Given the description of an element on the screen output the (x, y) to click on. 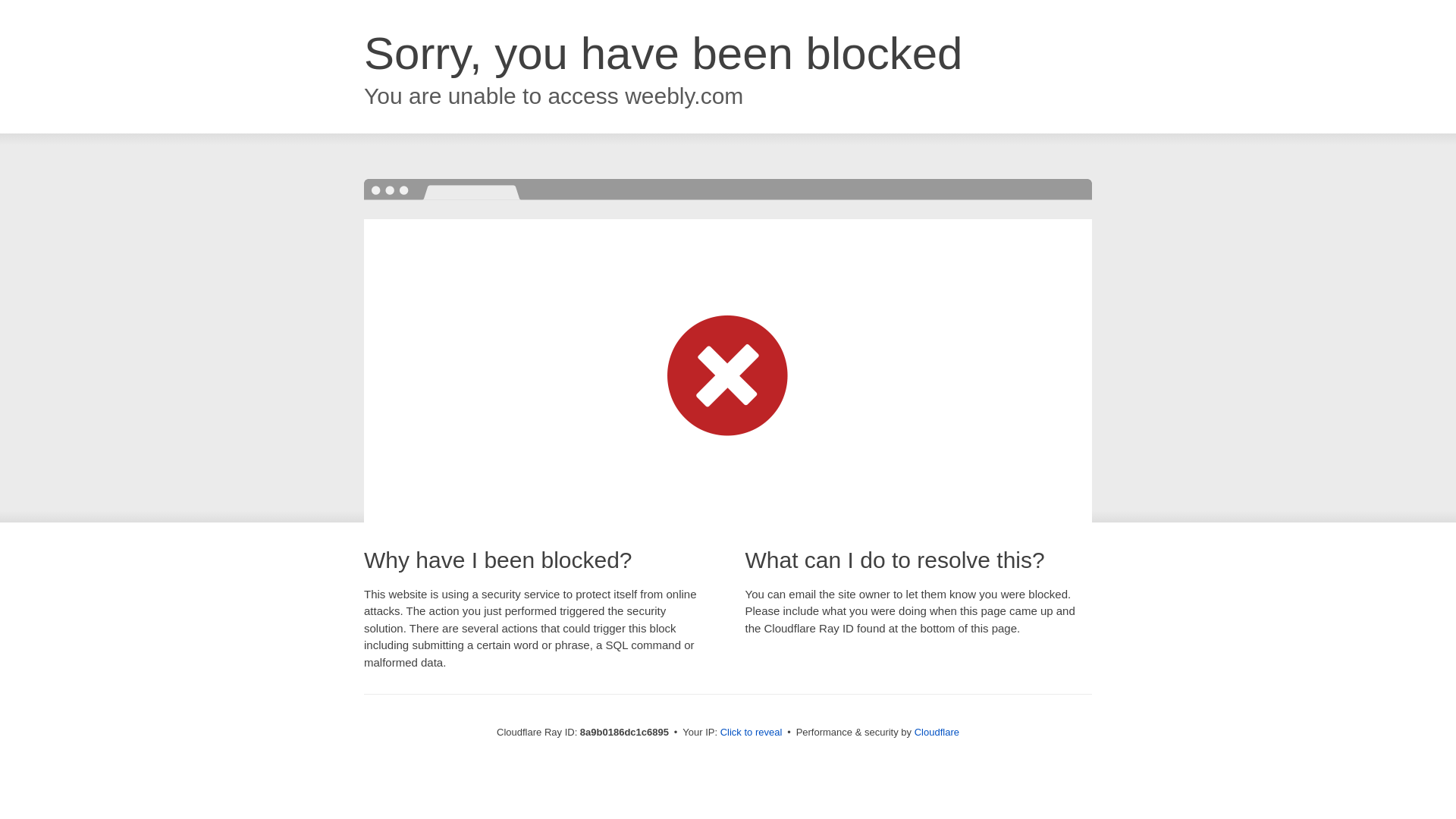
Cloudflare (936, 731)
Click to reveal (751, 732)
